Given the description of an element on the screen output the (x, y) to click on. 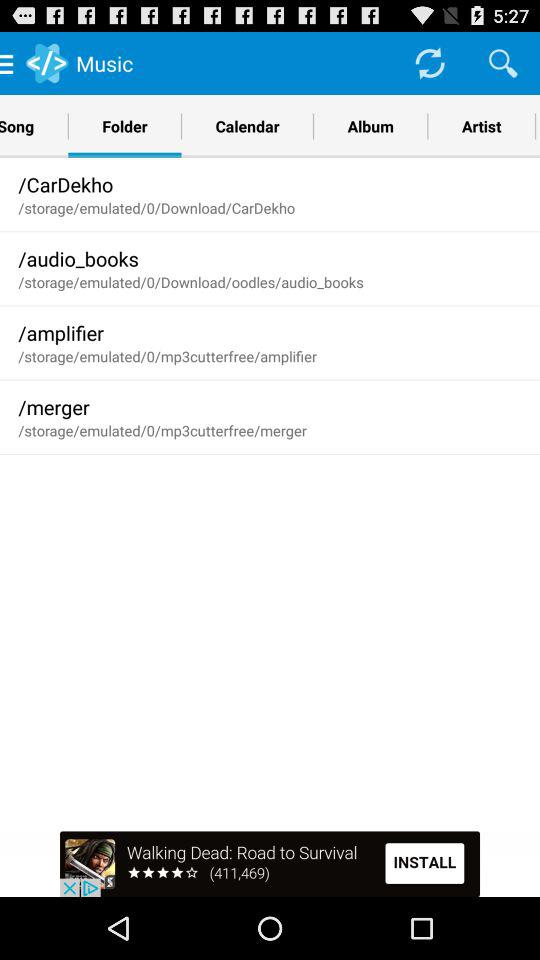
shows refresh icon (429, 62)
